Given the description of an element on the screen output the (x, y) to click on. 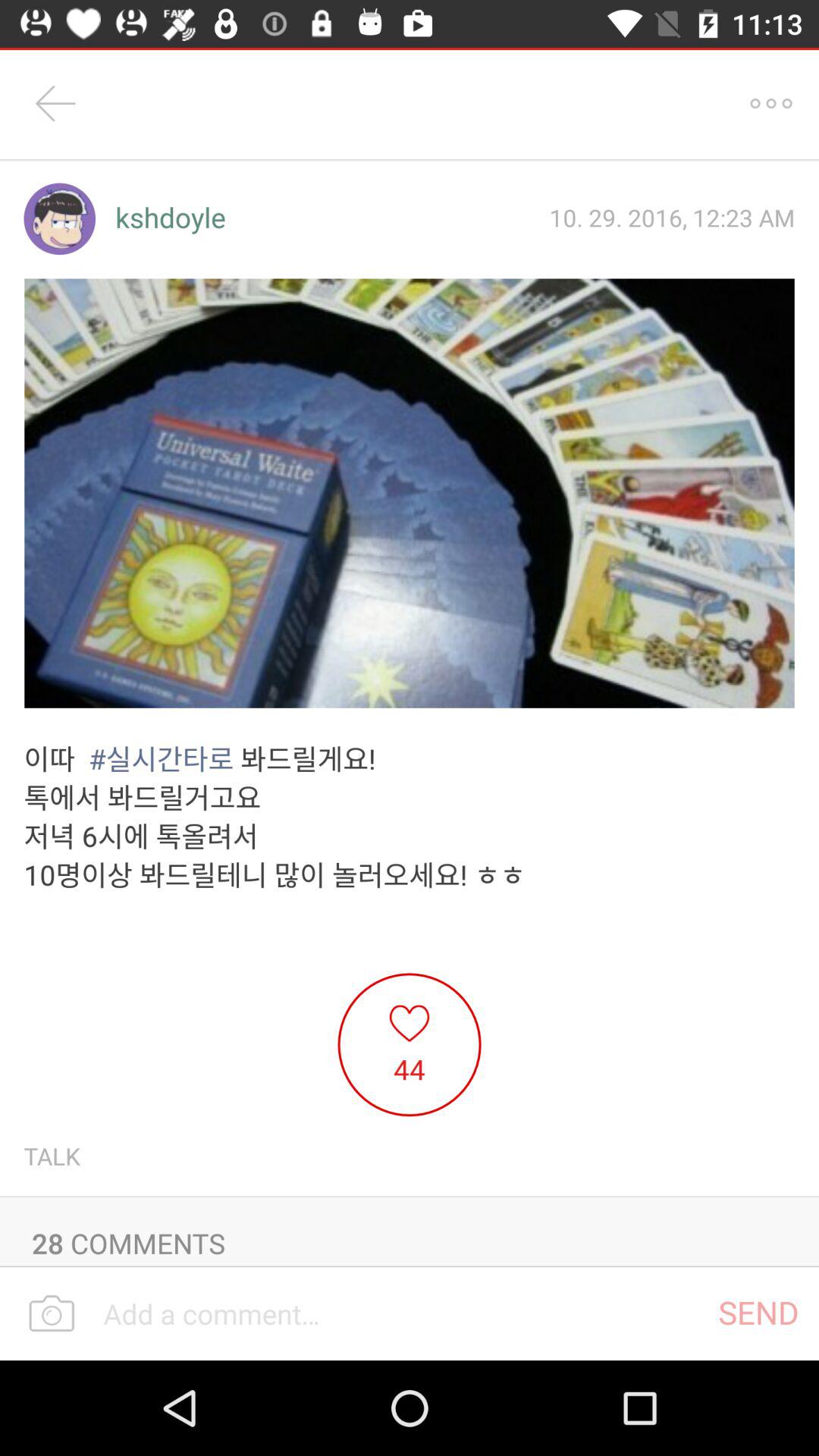
choose item to the left of the kshdoyle icon (59, 218)
